Given the description of an element on the screen output the (x, y) to click on. 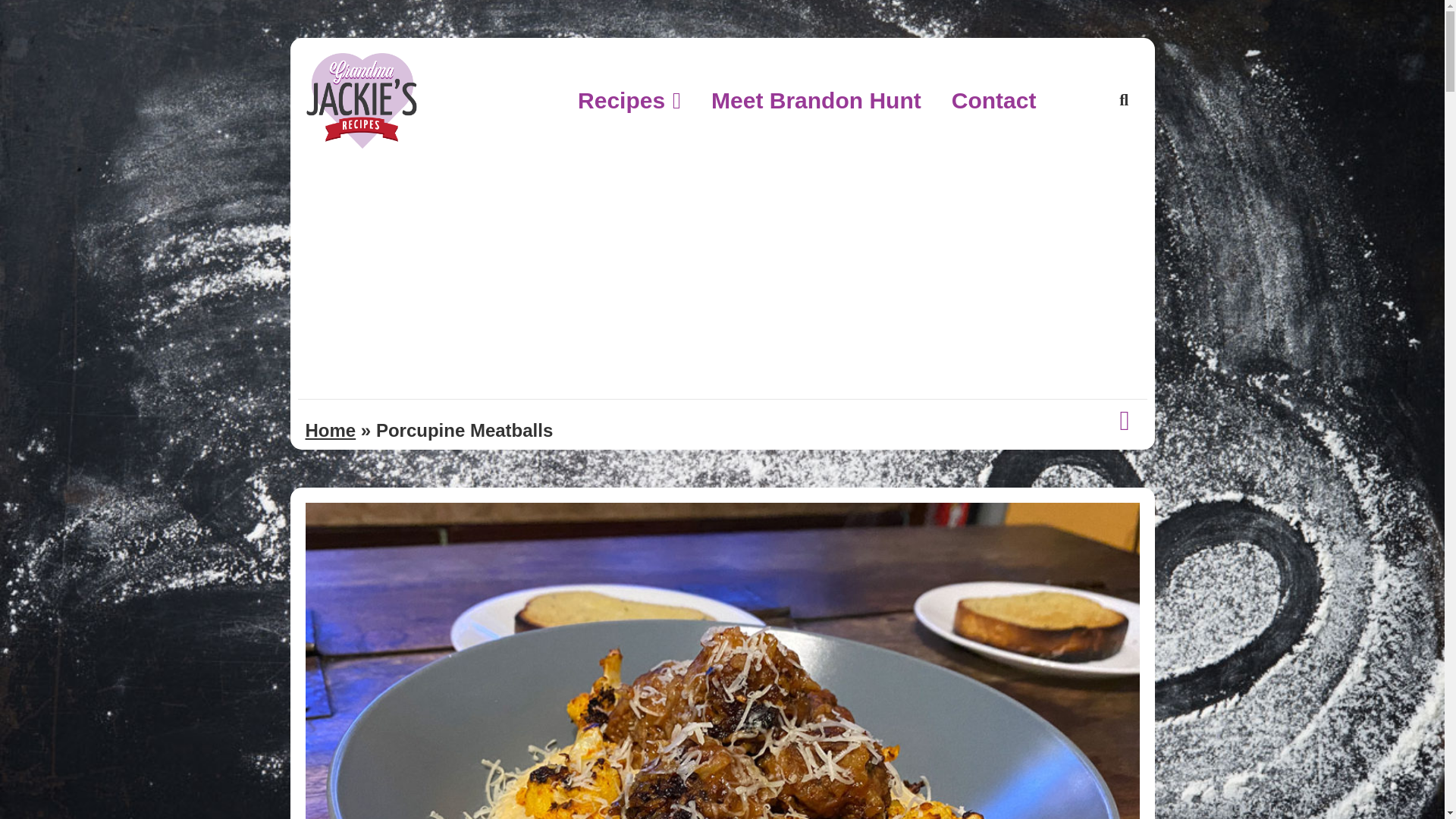
Home (329, 430)
Contact (993, 100)
Meet Brandon Hunt (815, 100)
Recipes (628, 100)
